Given the description of an element on the screen output the (x, y) to click on. 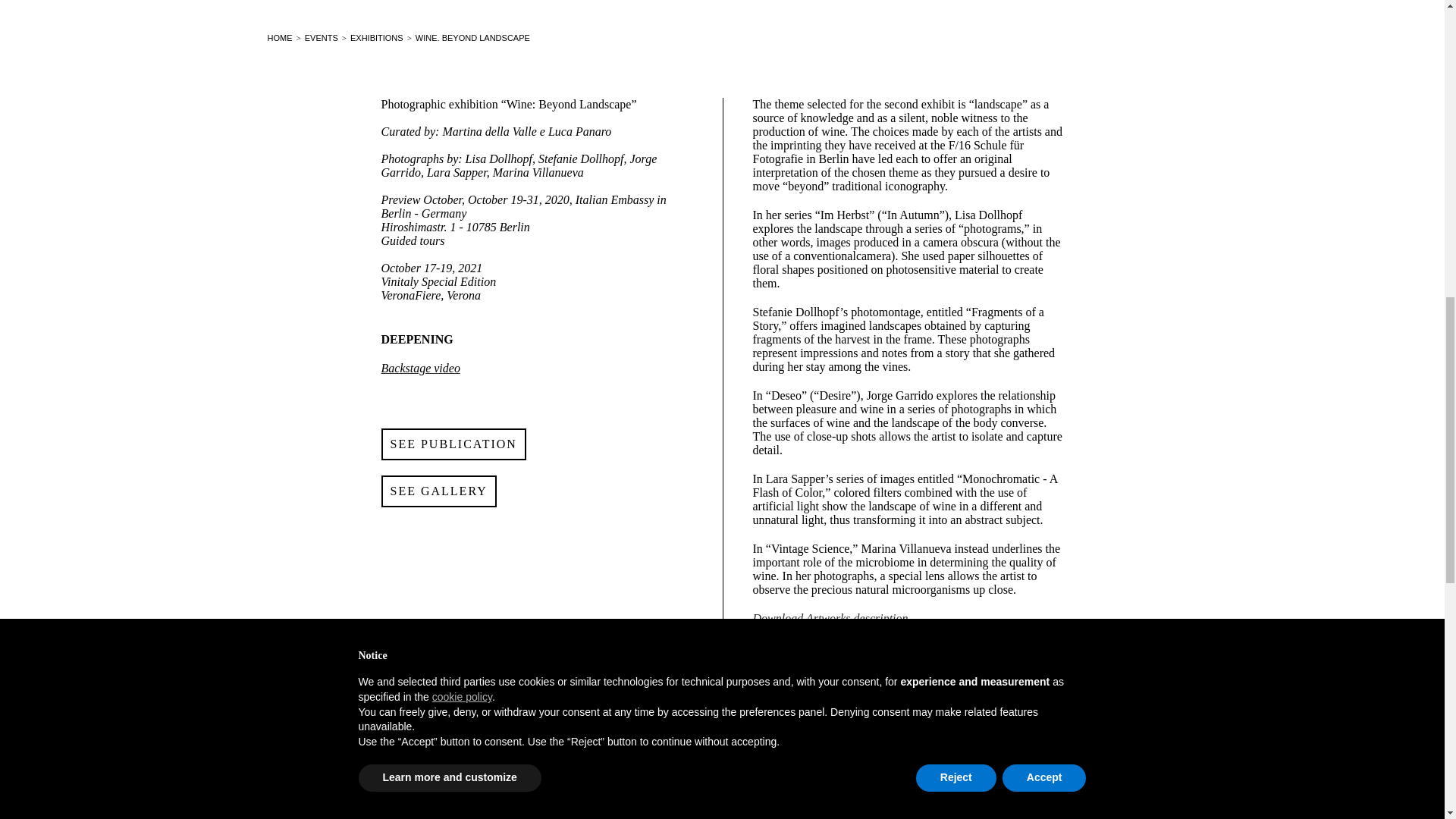
EXHIBITIONS (376, 38)
SEE GALLERY (438, 490)
Backstage video (420, 367)
HOME (279, 38)
SEE PUBLICATION (452, 444)
Download Artworks description (829, 617)
